Given the description of an element on the screen output the (x, y) to click on. 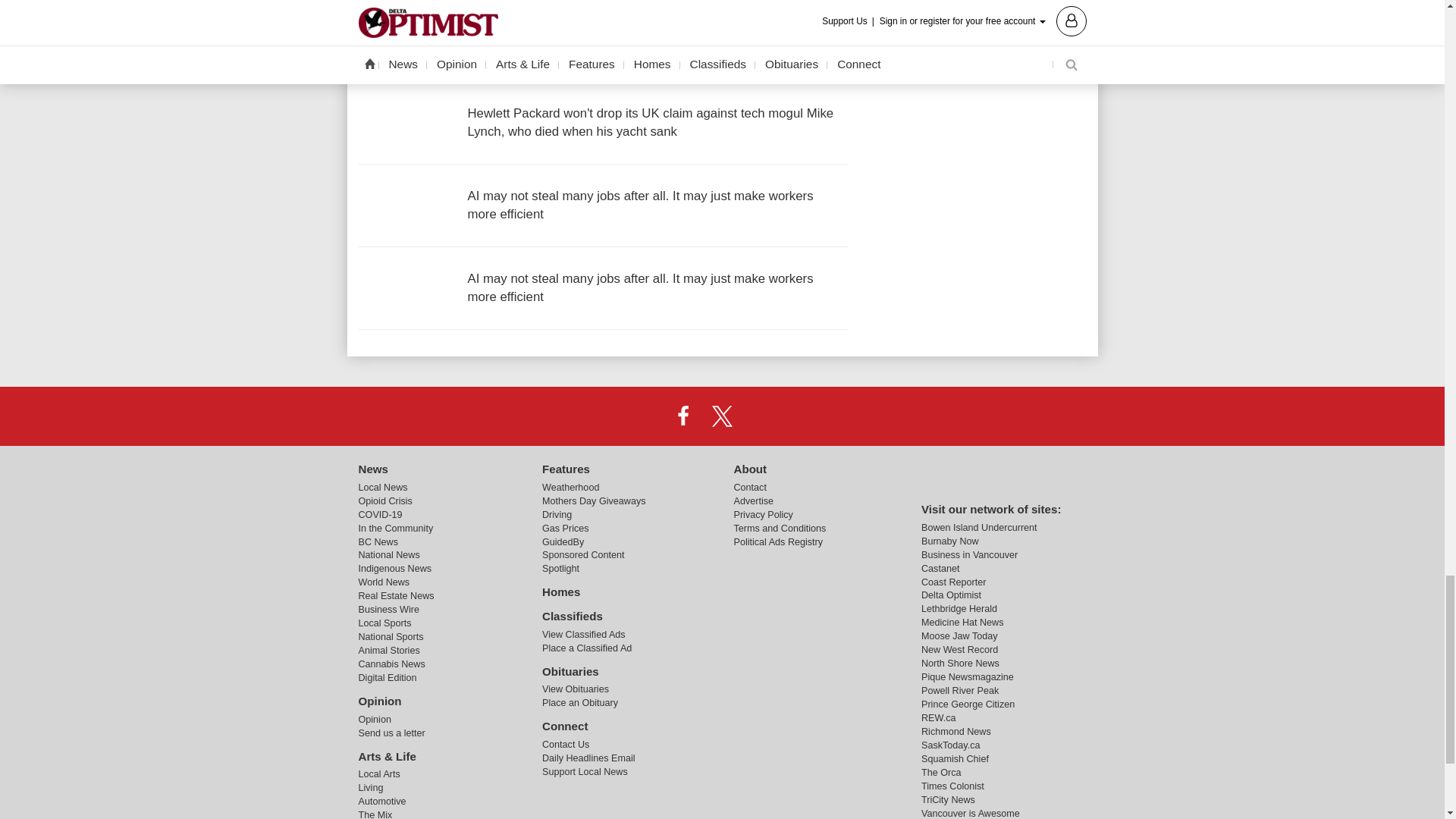
X (721, 415)
Instagram (760, 415)
Facebook (683, 415)
